Given the description of an element on the screen output the (x, y) to click on. 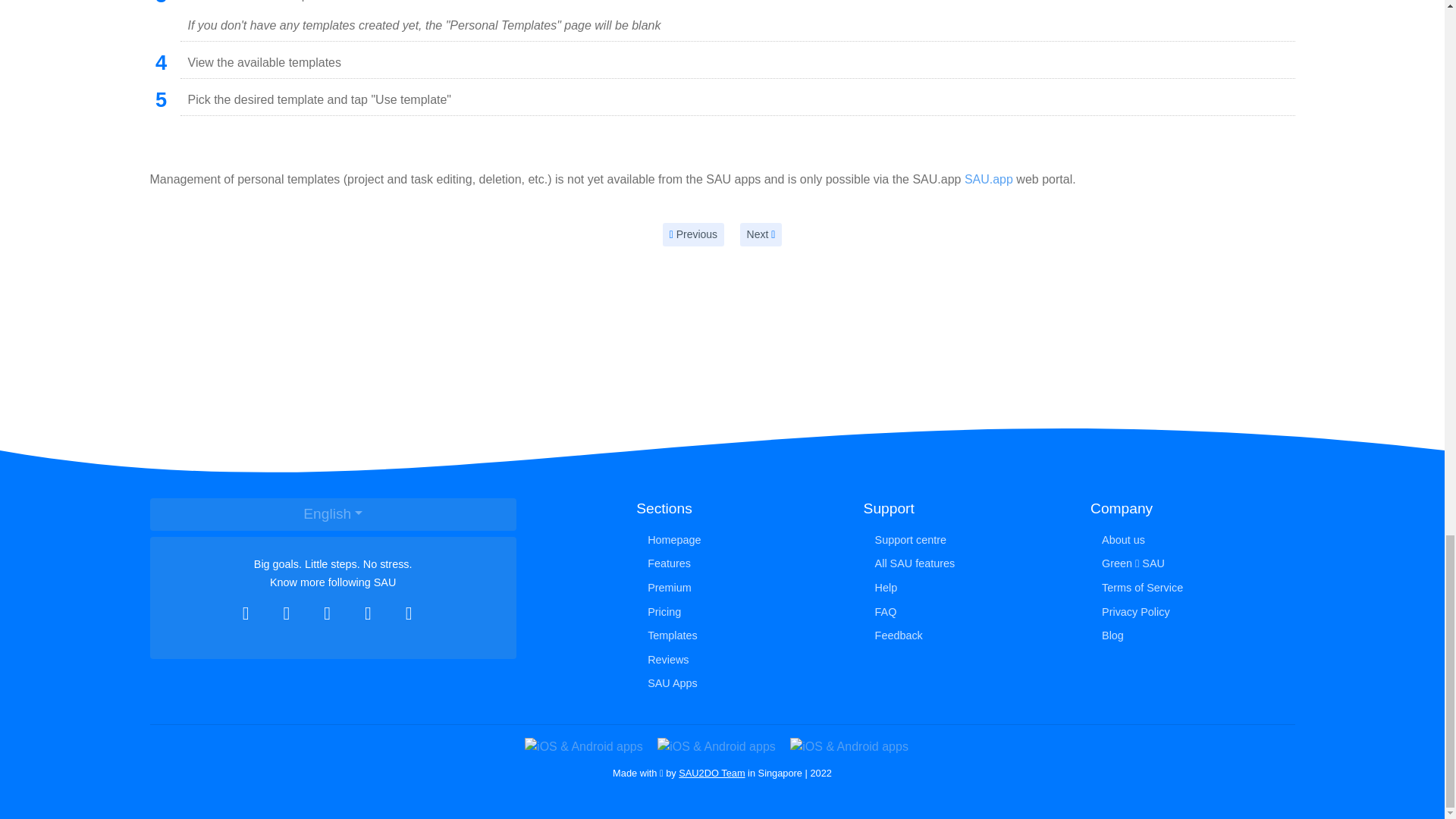
English (333, 513)
Features (737, 564)
SAU.app (988, 178)
About us (1192, 540)
Premium (737, 588)
FAQ (966, 611)
Pricing (737, 611)
Templates (737, 636)
Homepage (737, 540)
All SAU features (966, 564)
